Given the description of an element on the screen output the (x, y) to click on. 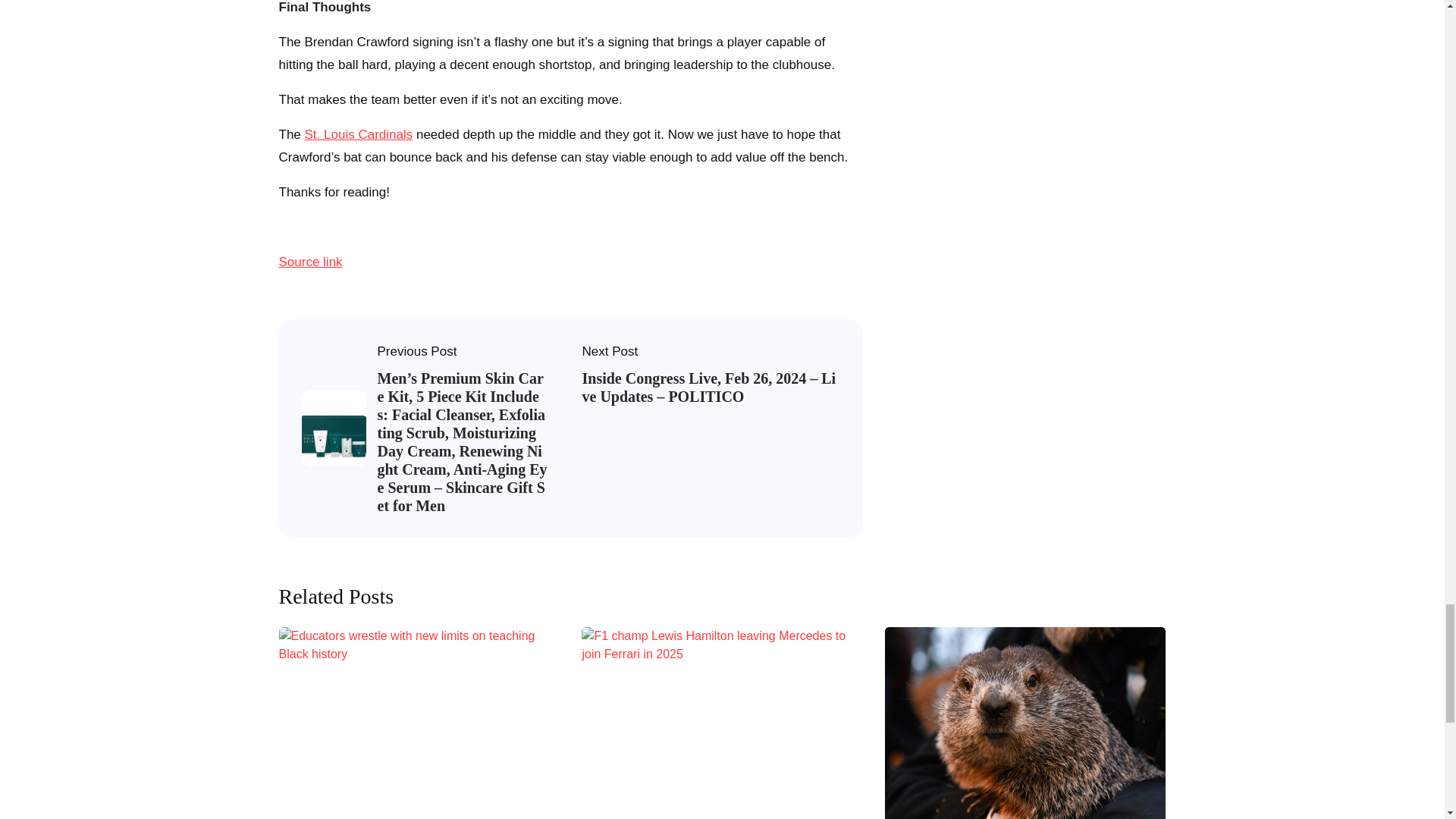
Source link (310, 262)
St. Louis Cardinals (358, 135)
